Given the description of an element on the screen output the (x, y) to click on. 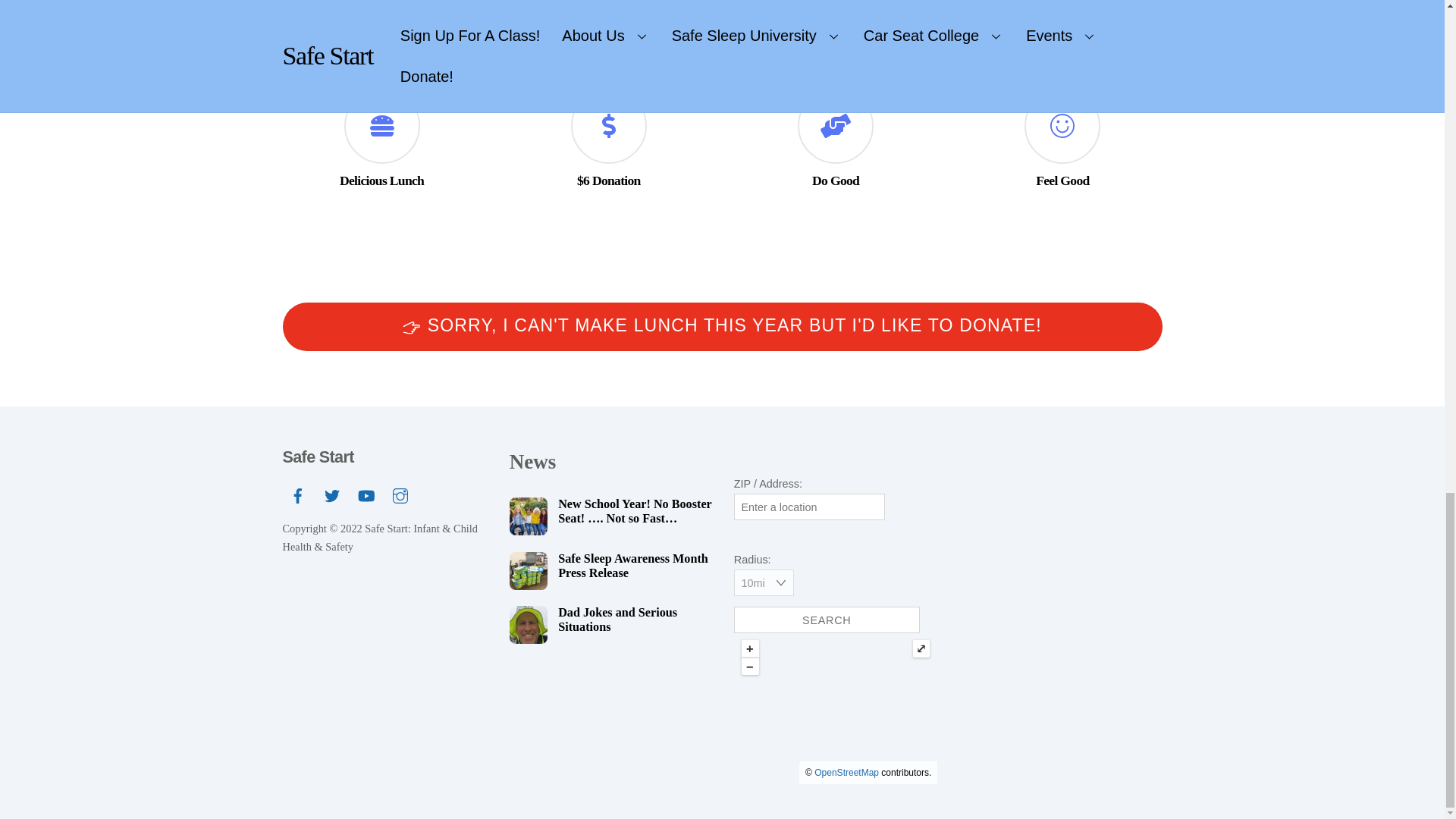
Toggle full-screen (921, 648)
Zoom in (749, 648)
Zoom out (749, 666)
Search (826, 619)
Safe Start (317, 456)
THERE'S STILL TIME!! ORDER NOW!! (721, 33)
boxes (528, 570)
Search (826, 619)
Boosters (528, 516)
bart-sized (528, 624)
